Given the description of an element on the screen output the (x, y) to click on. 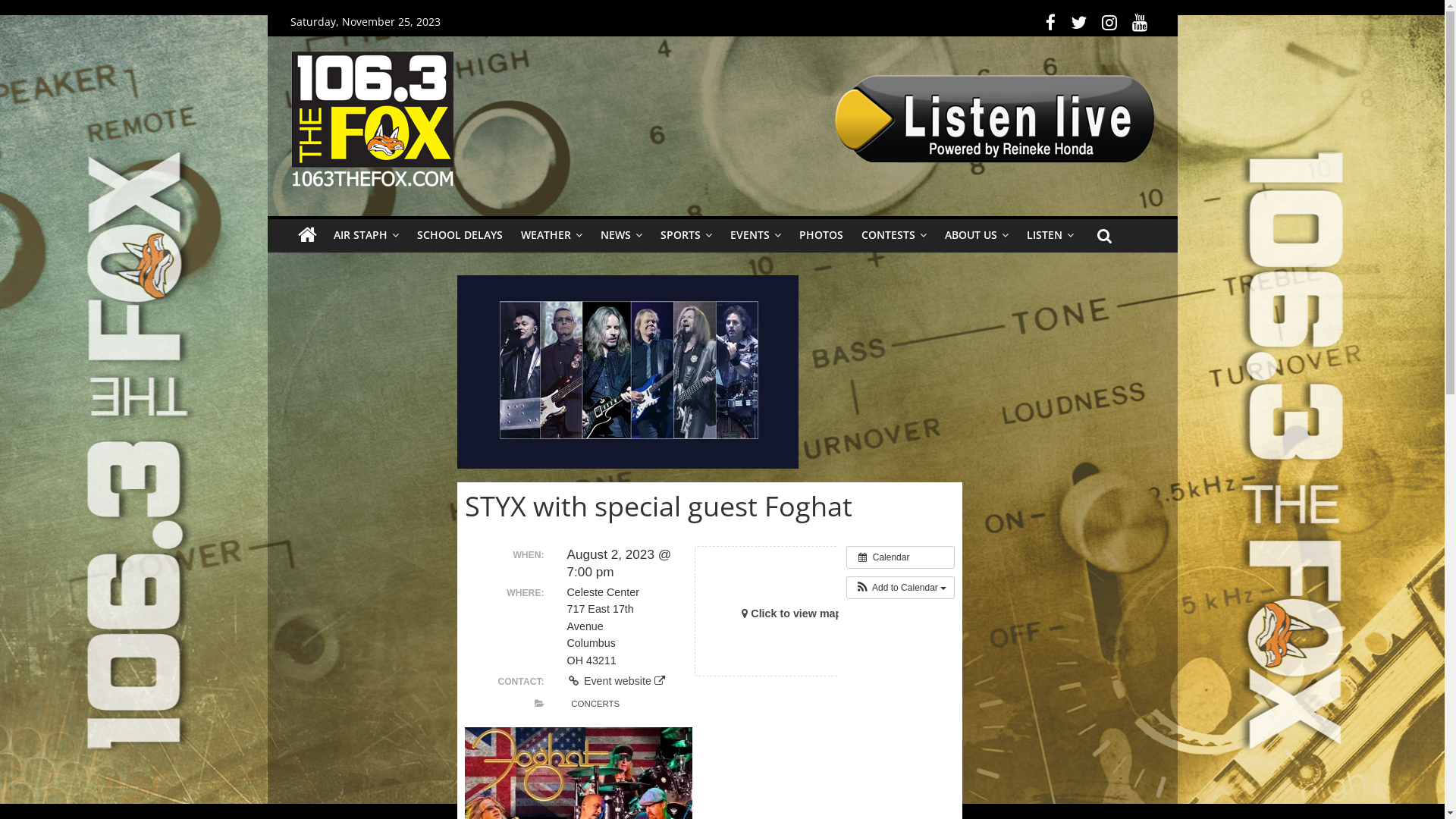
LISTEN Element type: text (1049, 235)
ABOUT US Element type: text (976, 235)
CONCERTS Element type: text (595, 703)
AIR STAPH Element type: text (365, 235)
Categories Element type: hover (539, 703)
106.3 The Fox Element type: hover (306, 235)
NEWS Element type: text (621, 235)
WEATHER Element type: text (550, 235)
Event website Element type: text (616, 680)
CONTESTS Element type: text (893, 235)
Calendar Element type: text (900, 557)
EVENTS Element type: text (754, 235)
SCHOOL DELAYS Element type: text (459, 235)
PHOTOS Element type: text (821, 235)
SPORTS Element type: text (685, 235)
